Given the description of an element on the screen output the (x, y) to click on. 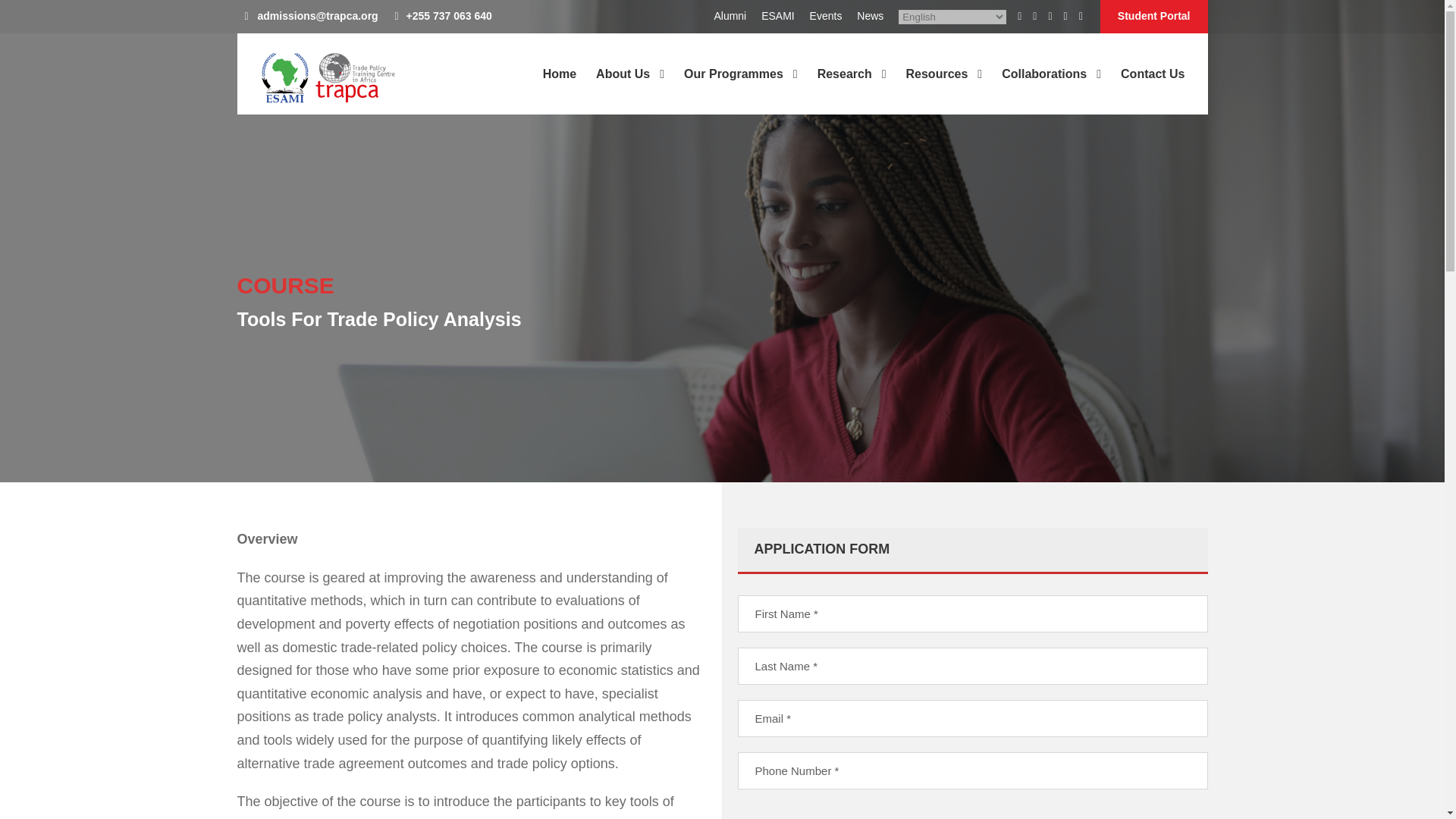
ESAMI (777, 19)
Our Programmes (740, 88)
Home (559, 88)
Student Portal (1154, 17)
Alumni (729, 19)
Events (826, 19)
About Us (629, 88)
Research (851, 88)
News (870, 19)
